Given the description of an element on the screen output the (x, y) to click on. 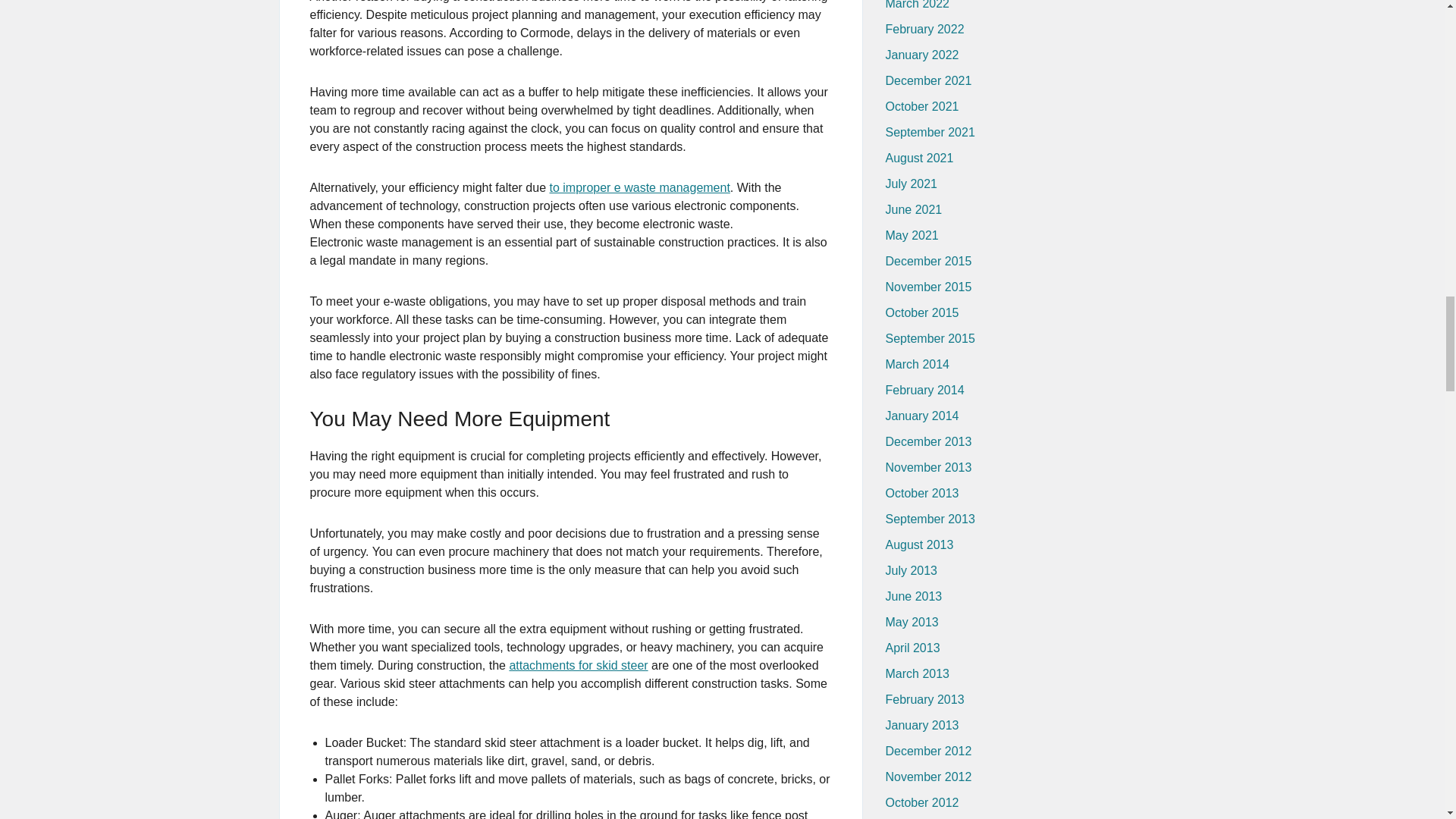
to improper e waste management (638, 187)
attachments for skid steer (577, 665)
